Given the description of an element on the screen output the (x, y) to click on. 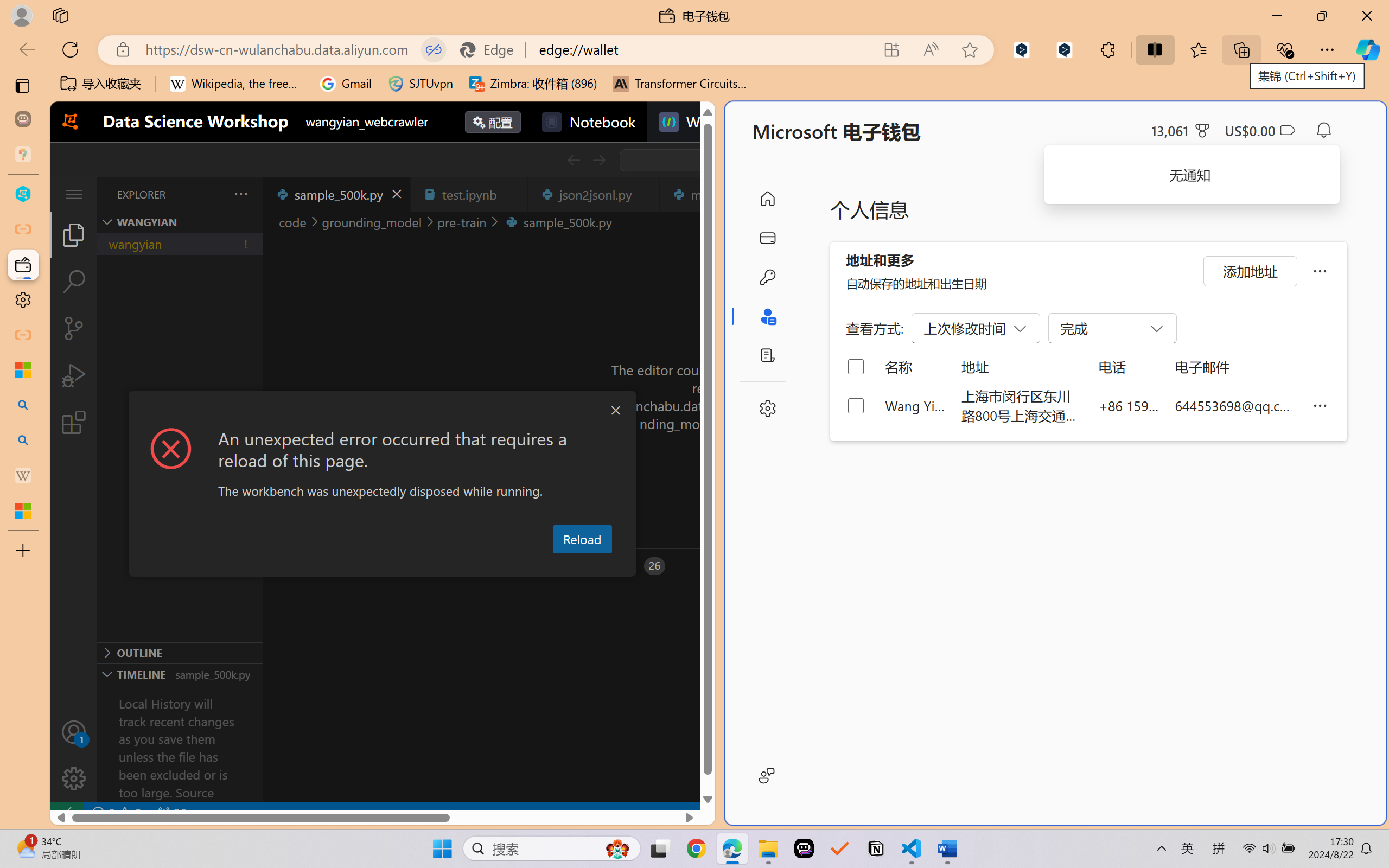
Go Back (Alt+LeftArrow) (573, 159)
Views and More Actions... (240, 193)
json2jsonl.py (593, 194)
Wikipedia, the free encyclopedia (236, 83)
